Given the description of an element on the screen output the (x, y) to click on. 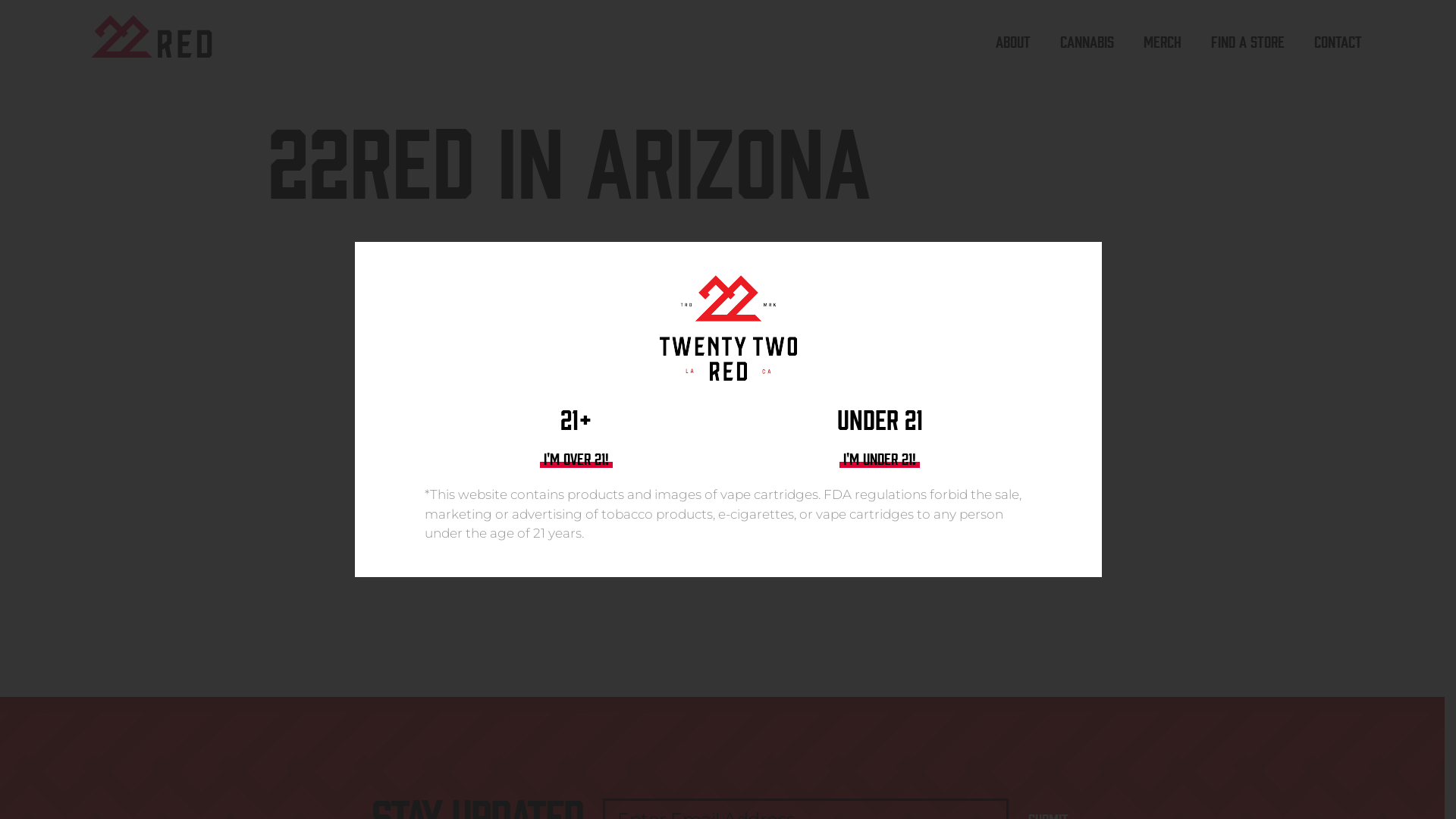
I'M UNDER 21! Element type: text (879, 458)
MERCH Element type: text (1162, 41)
FIND A STORE Element type: text (1247, 41)
CONTACT Element type: text (1335, 41)
ABOUT Element type: text (1012, 41)
CANNABIS Element type: text (1086, 41)
I'M OVER 21! Element type: text (575, 458)
